Given the description of an element on the screen output the (x, y) to click on. 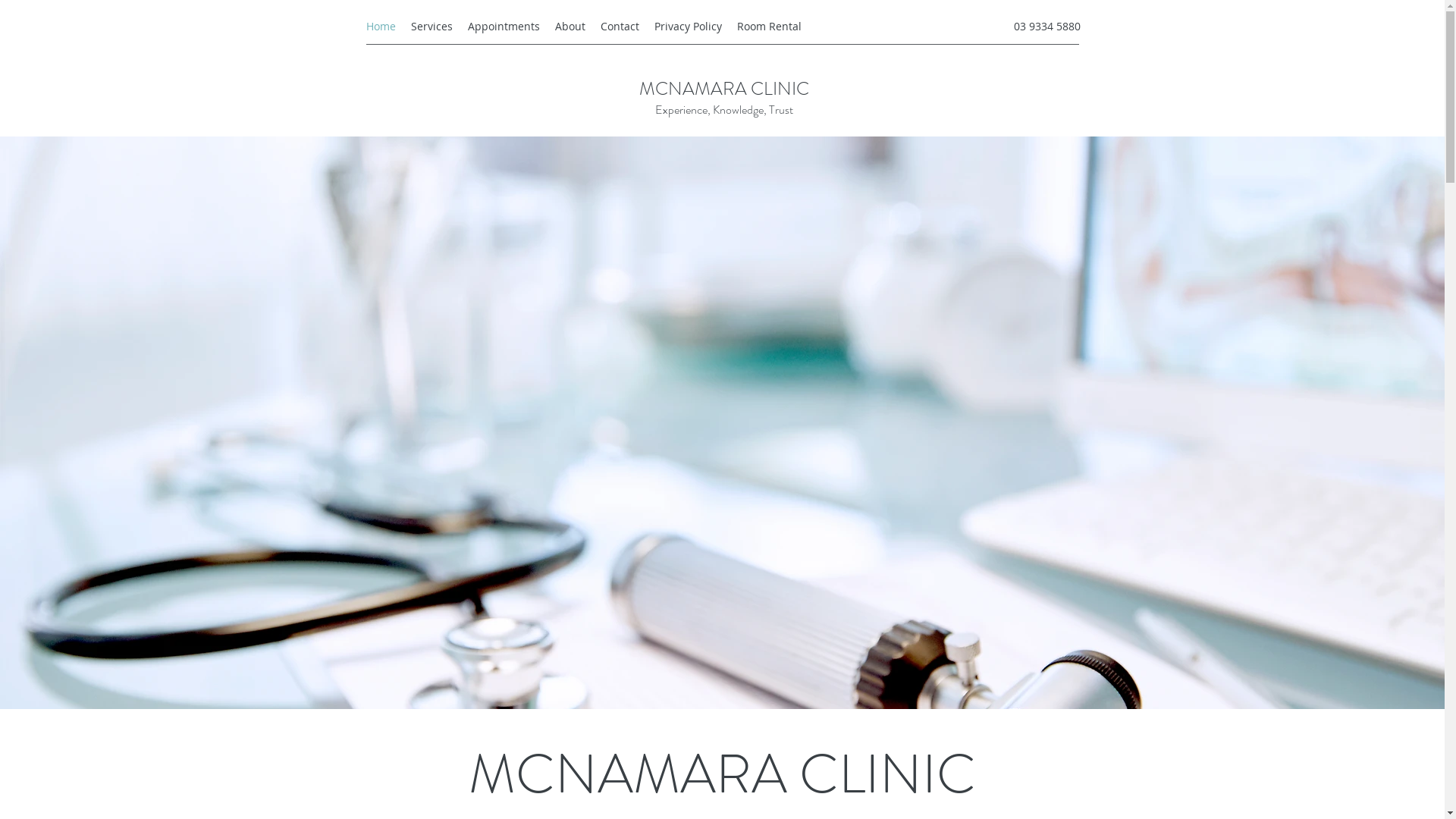
Home Element type: text (379, 26)
Services Element type: text (431, 26)
Appointments Element type: text (502, 26)
Room Rental Element type: text (769, 26)
Privacy Policy Element type: text (687, 26)
About Element type: text (570, 26)
Contact Element type: text (619, 26)
